Given the description of an element on the screen output the (x, y) to click on. 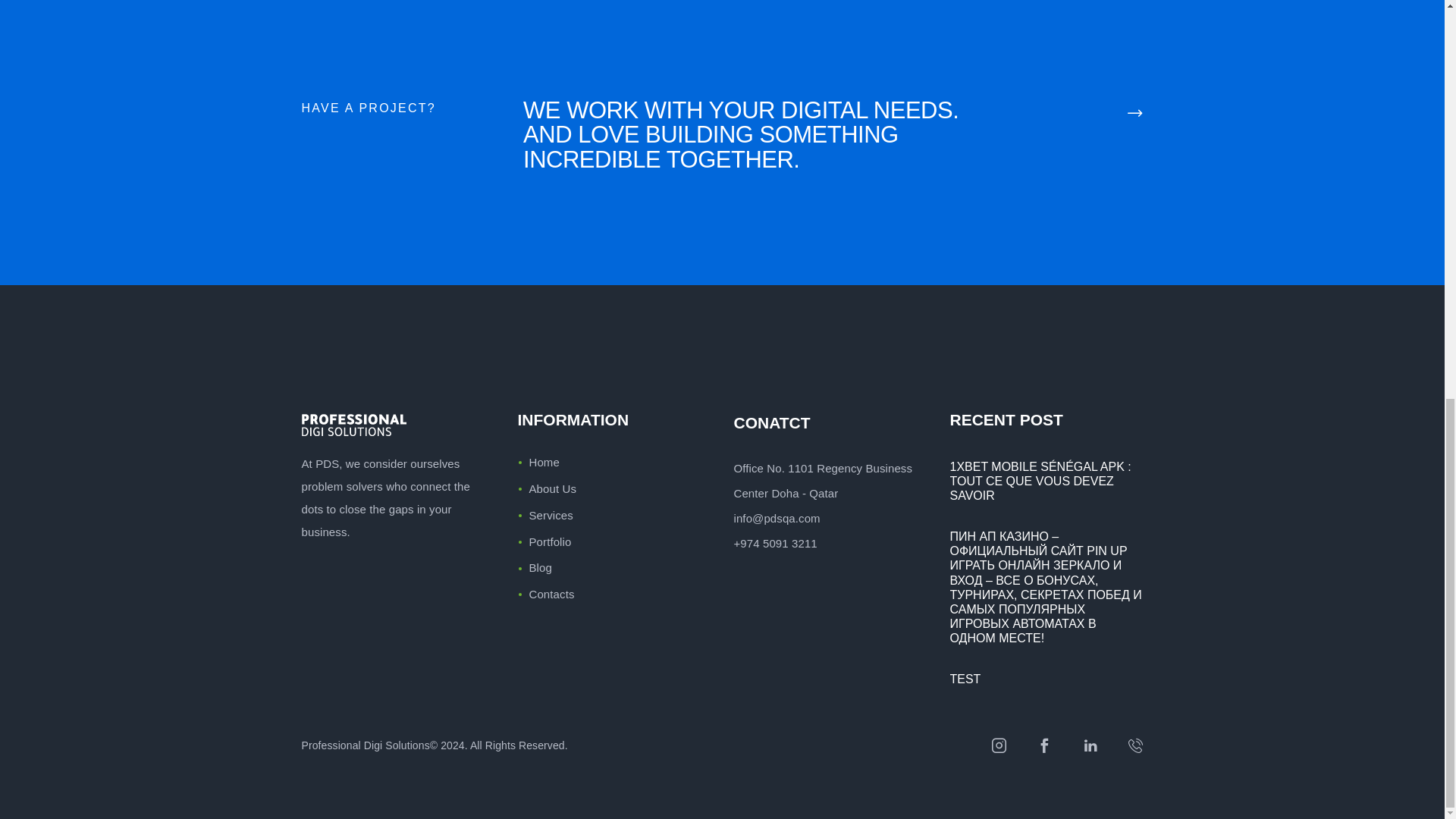
Contacts (552, 594)
TEST (1045, 678)
Portfolio (550, 541)
Home (544, 461)
About Us (552, 488)
Services (551, 514)
Blog (540, 567)
